Given the description of an element on the screen output the (x, y) to click on. 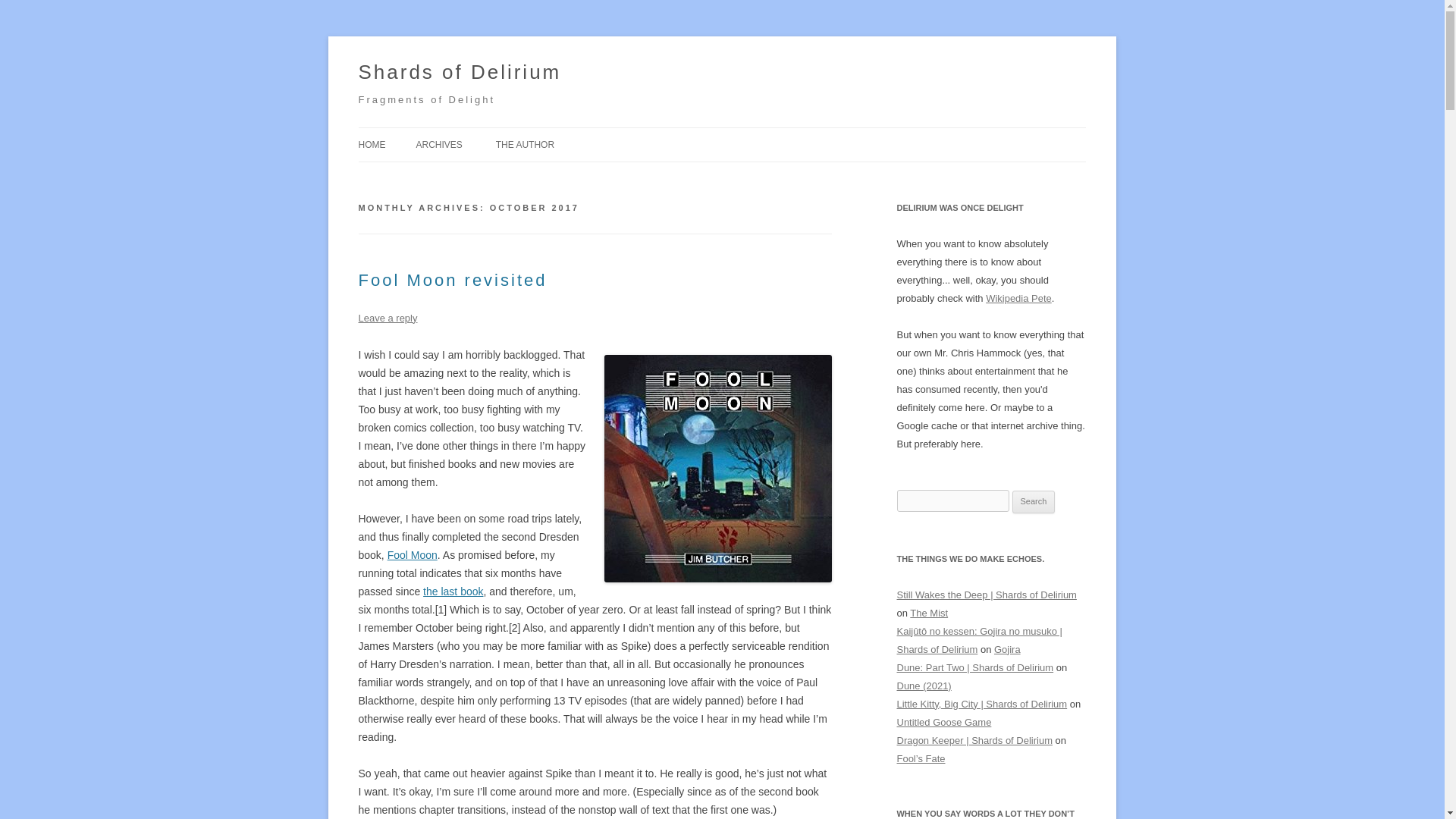
Gojira (1007, 649)
Fool Moon (412, 554)
The Mist (928, 613)
Shards of Delirium (459, 72)
ARCHIVES (437, 144)
Wikipedia Pete (1018, 297)
Fool Moon revisited (452, 280)
My review of the Storm Front audiobook (453, 591)
the last book (453, 591)
